Given the description of an element on the screen output the (x, y) to click on. 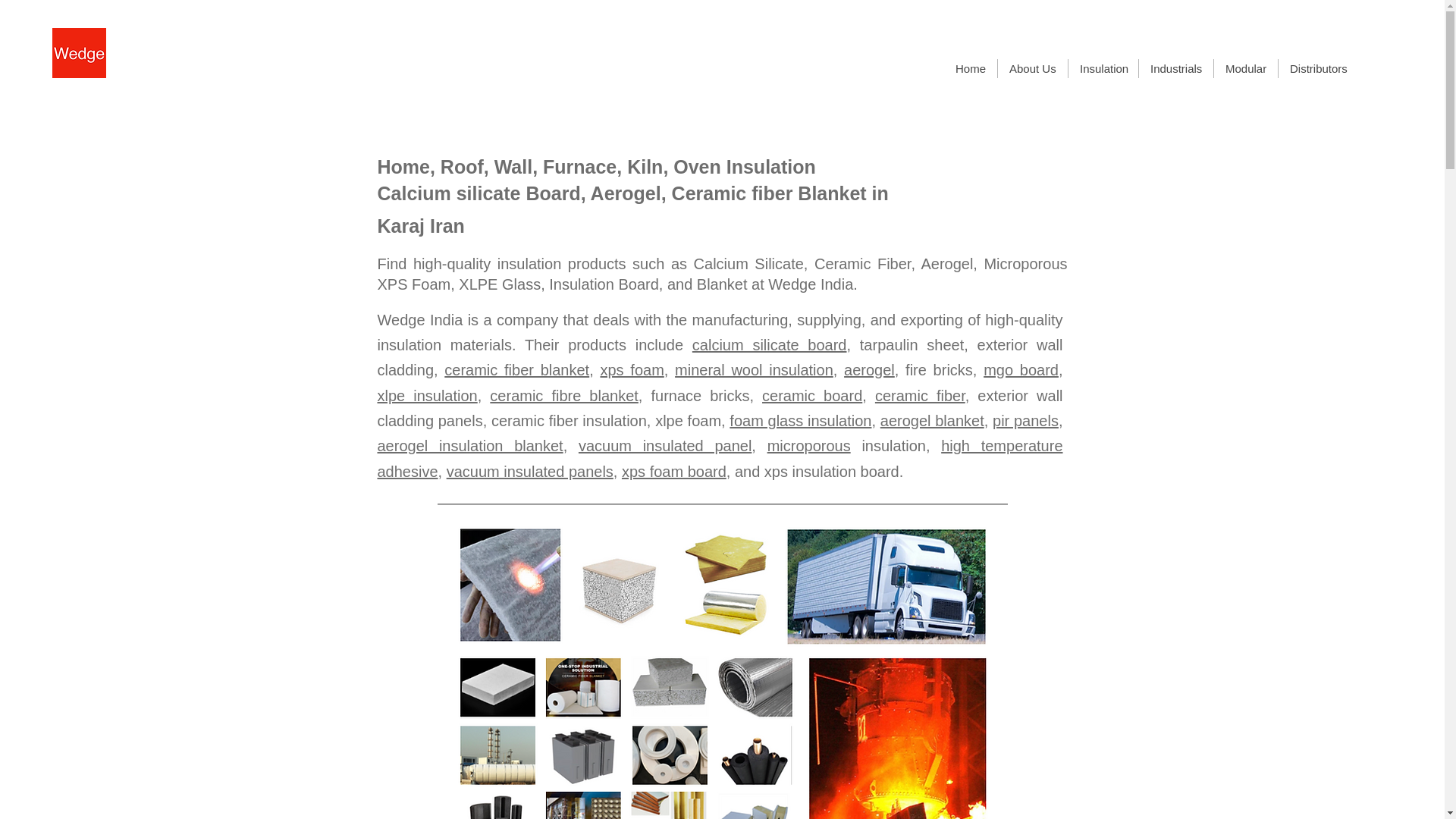
Modular (1245, 67)
Home (970, 67)
Insulation (1102, 67)
Industrials (1175, 67)
About Us (1032, 67)
